Given the description of an element on the screen output the (x, y) to click on. 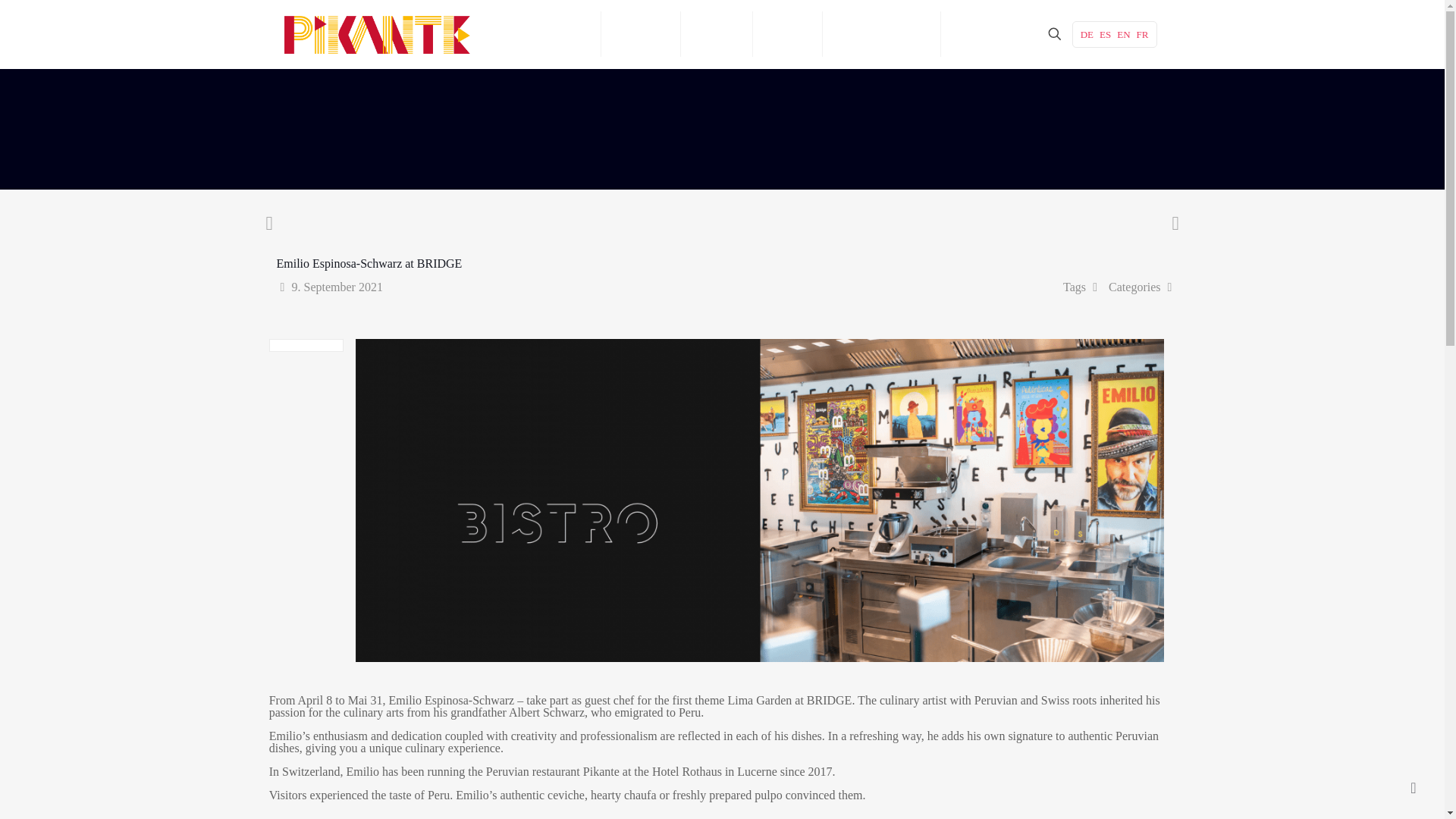
FR (1142, 34)
PRESS (787, 33)
MENUS (716, 33)
ES (1104, 34)
RESERVATIONS (881, 33)
PIKANTE (641, 33)
HOME (568, 33)
DE (1086, 34)
CONTACT (982, 33)
EN (1122, 34)
